Given the description of an element on the screen output the (x, y) to click on. 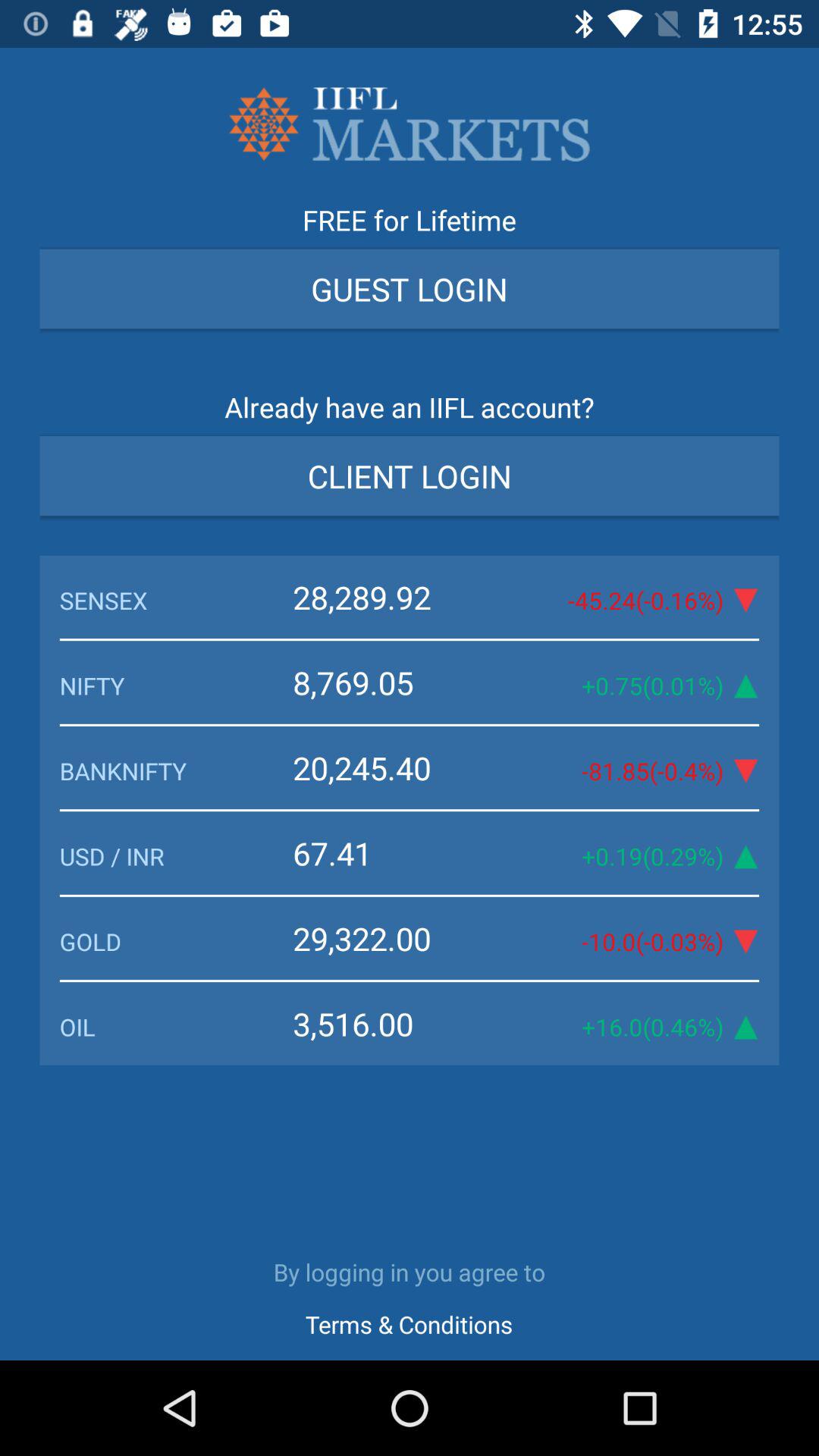
select the item next to 16 0 0 icon (397, 1023)
